Given the description of an element on the screen output the (x, y) to click on. 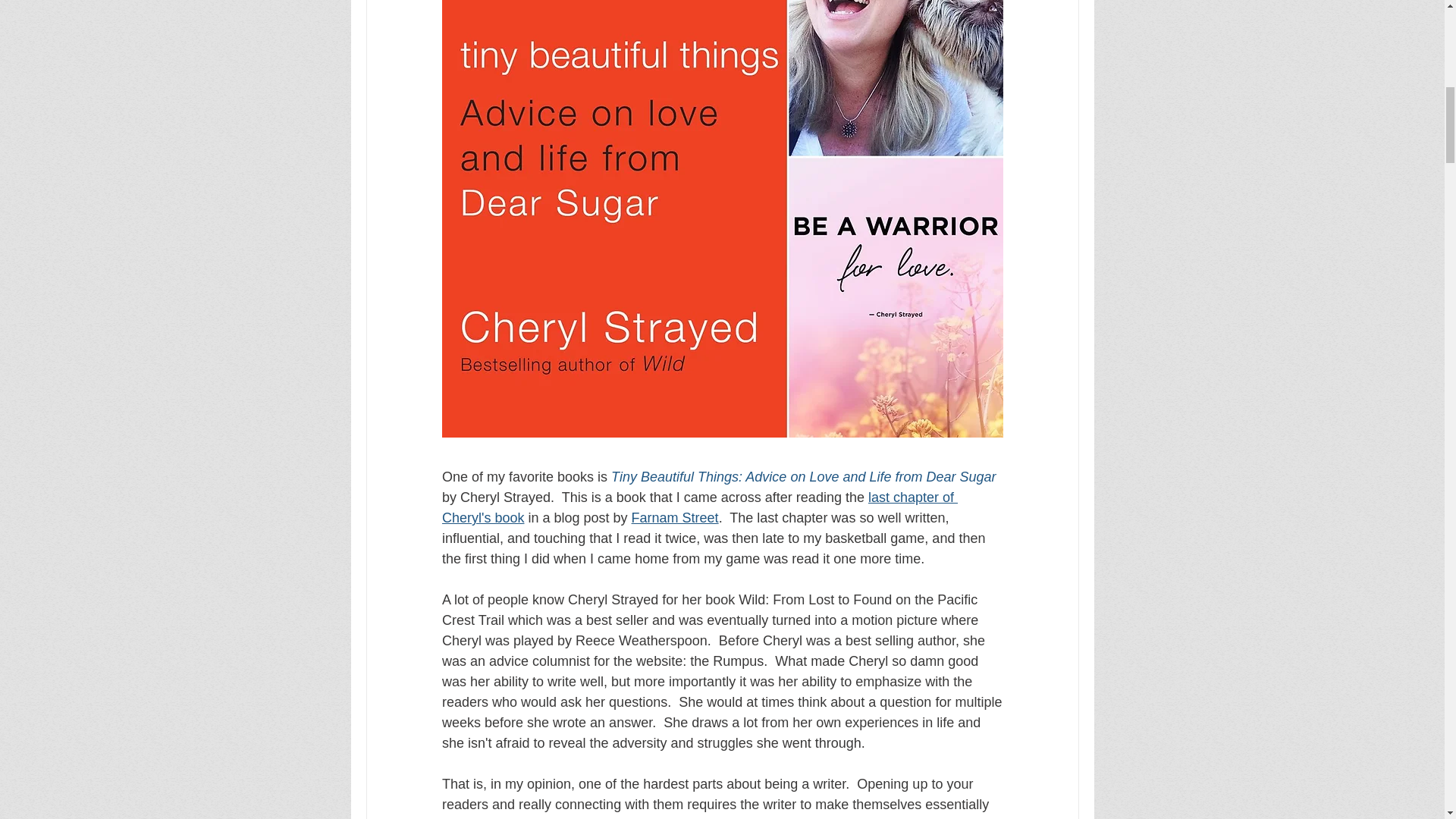
Farnam Street (673, 517)
last chapter of Cheryl's book (698, 507)
